Given the description of an element on the screen output the (x, y) to click on. 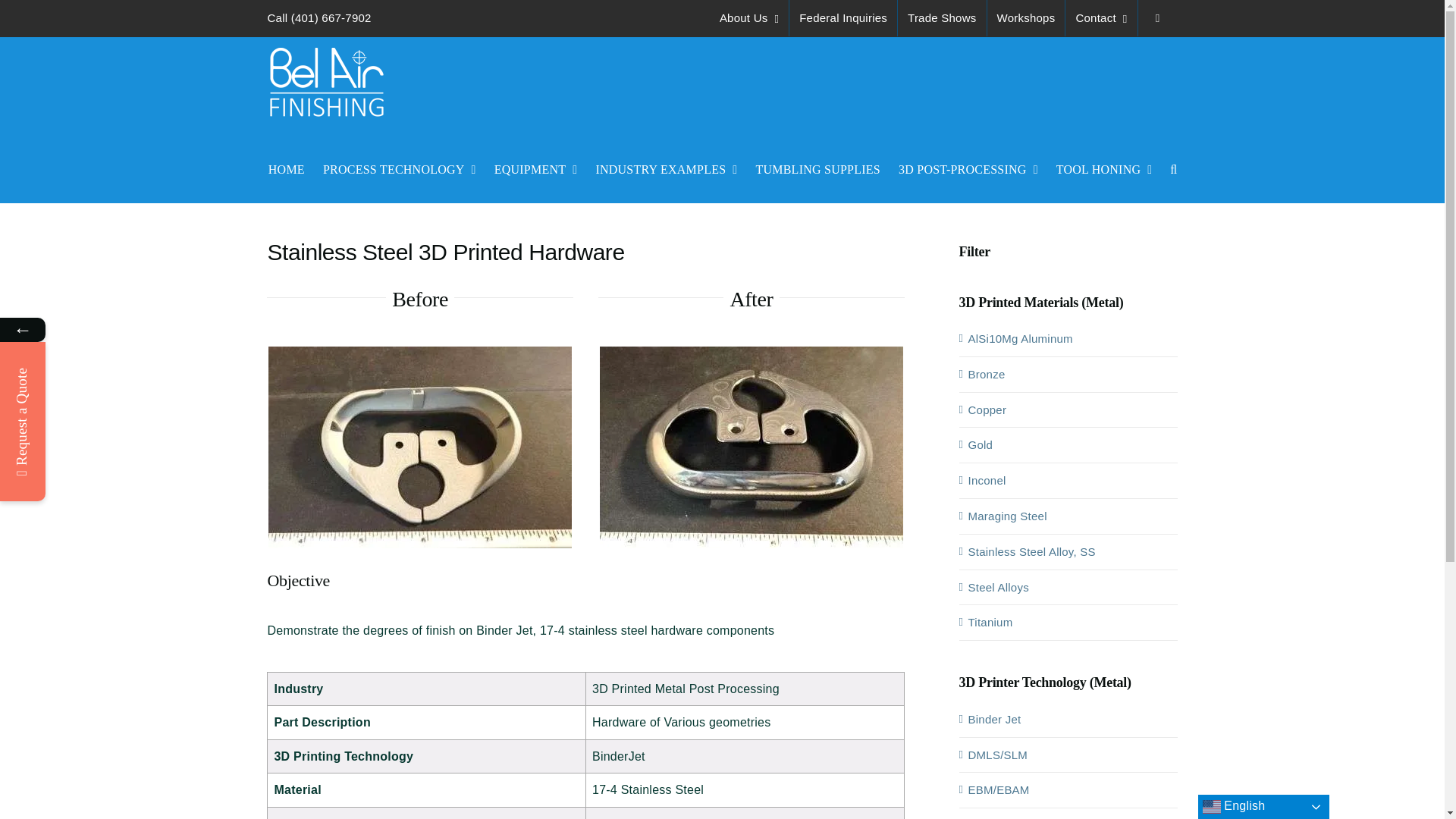
Contact (1101, 18)
Trade Shows (941, 18)
Federal Inquiries (842, 18)
Stainless Steel 3D Printed Hardware after (749, 18)
Stainless Steel 3D Printed Hardware before (750, 446)
PROCESS TECHNOLOGY (419, 446)
Workshops (399, 168)
